Given the description of an element on the screen output the (x, y) to click on. 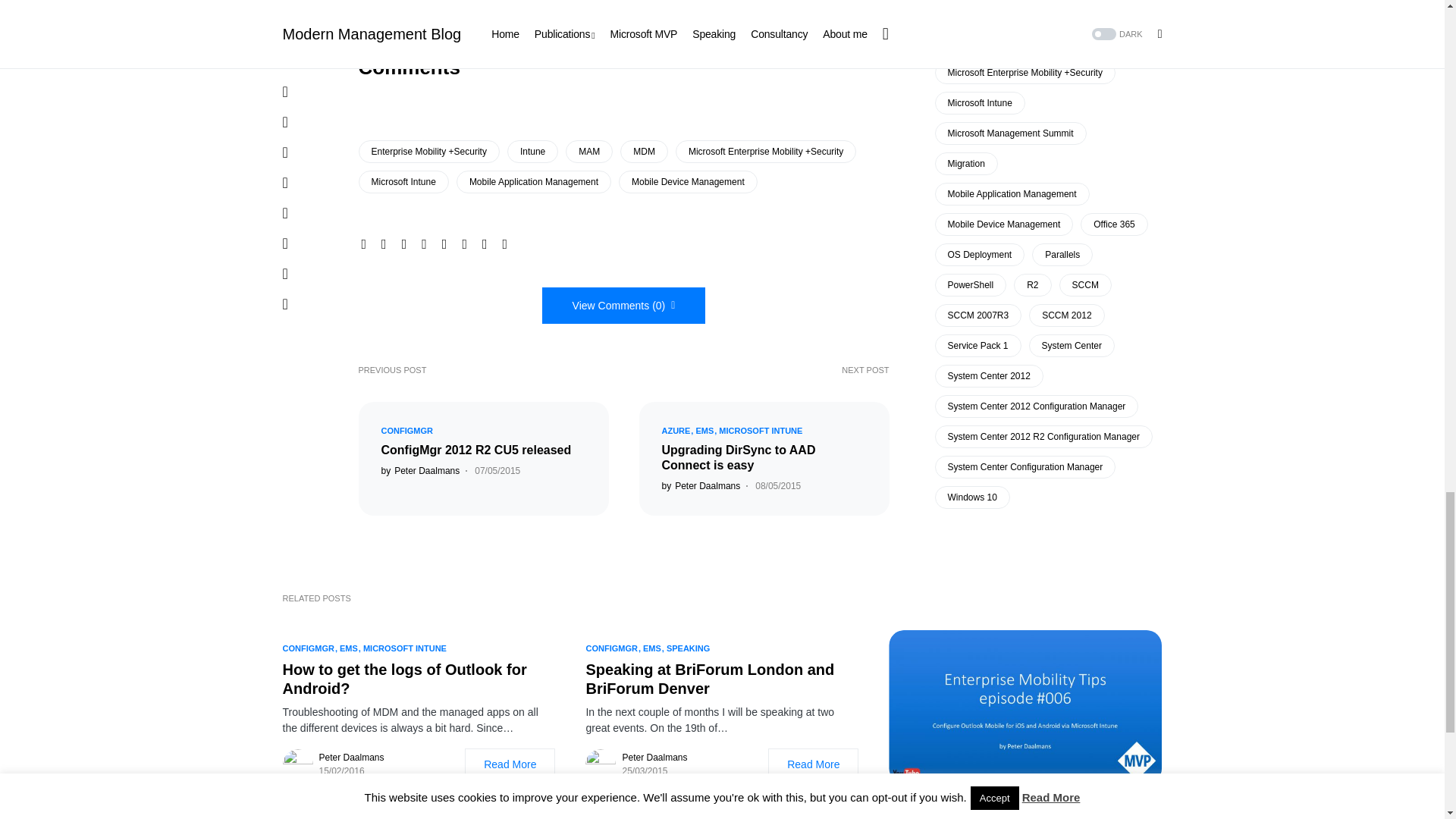
View all posts by Peter Daalmans (420, 470)
View all posts by Peter Daalmans (700, 486)
